Given the description of an element on the screen output the (x, y) to click on. 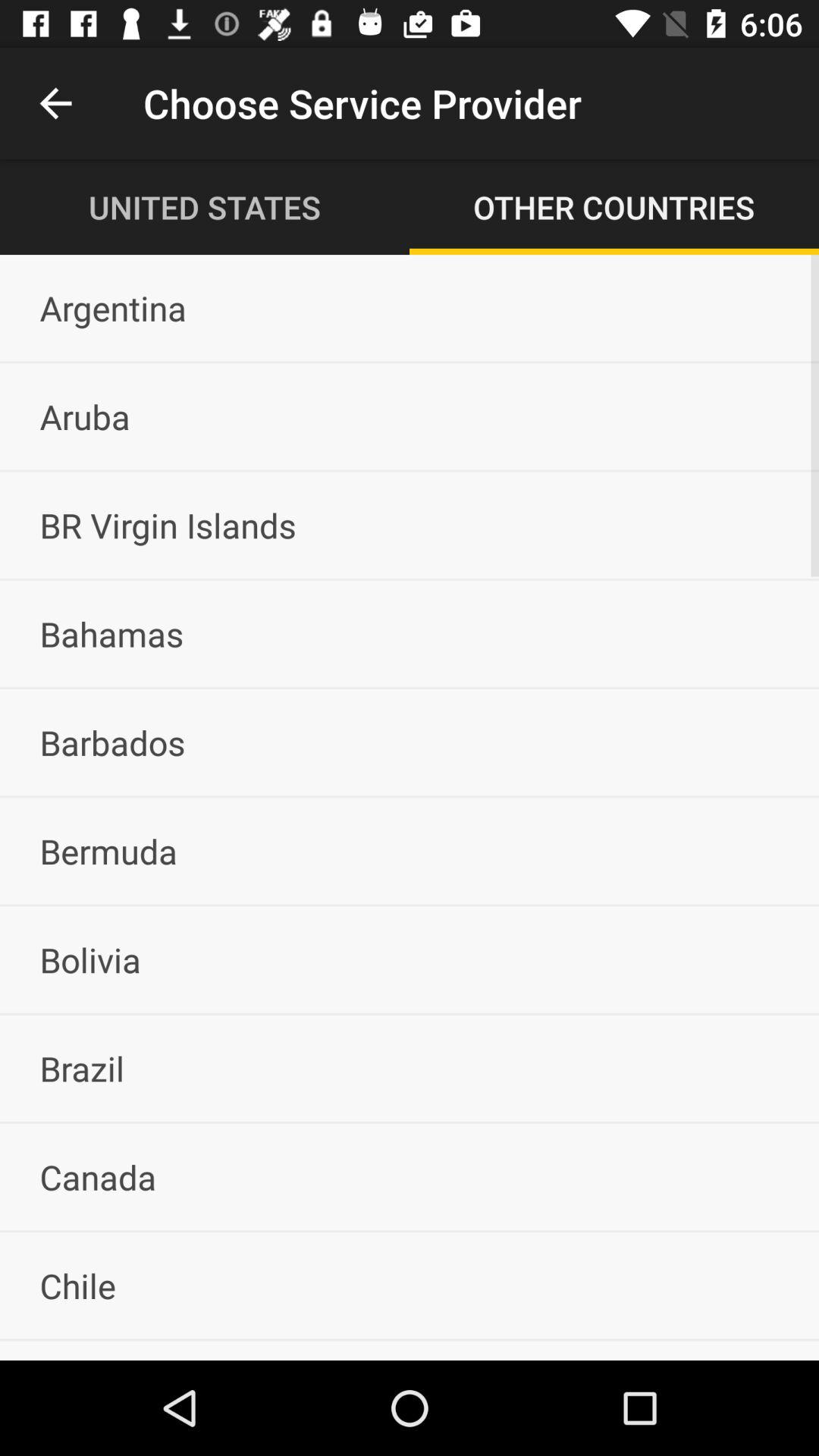
flip to the bolivia (409, 959)
